Given the description of an element on the screen output the (x, y) to click on. 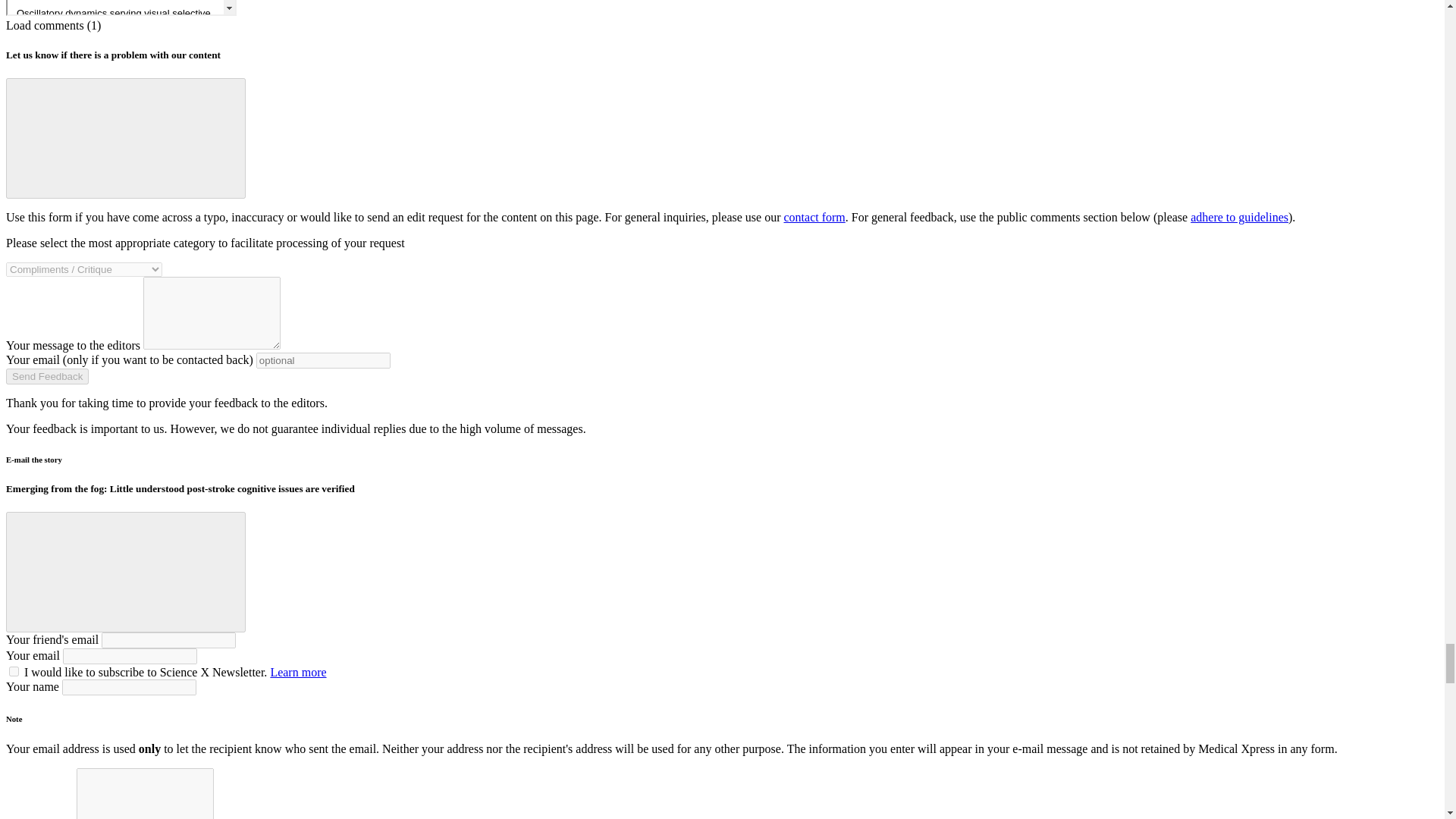
1 (13, 671)
